Given the description of an element on the screen output the (x, y) to click on. 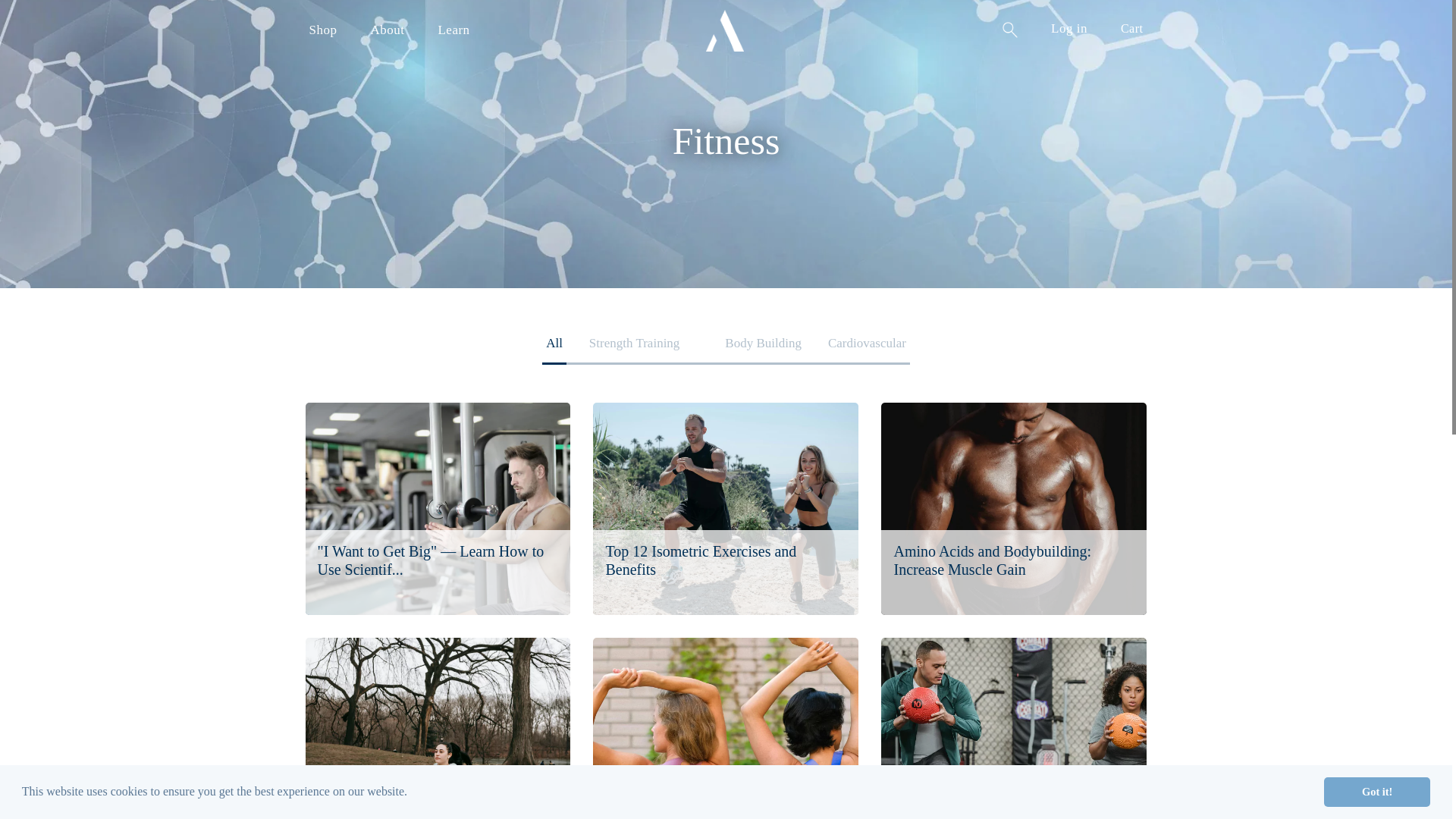
Cardiovascular (867, 347)
Body Building (762, 347)
Strength Training (634, 347)
